Given the description of an element on the screen output the (x, y) to click on. 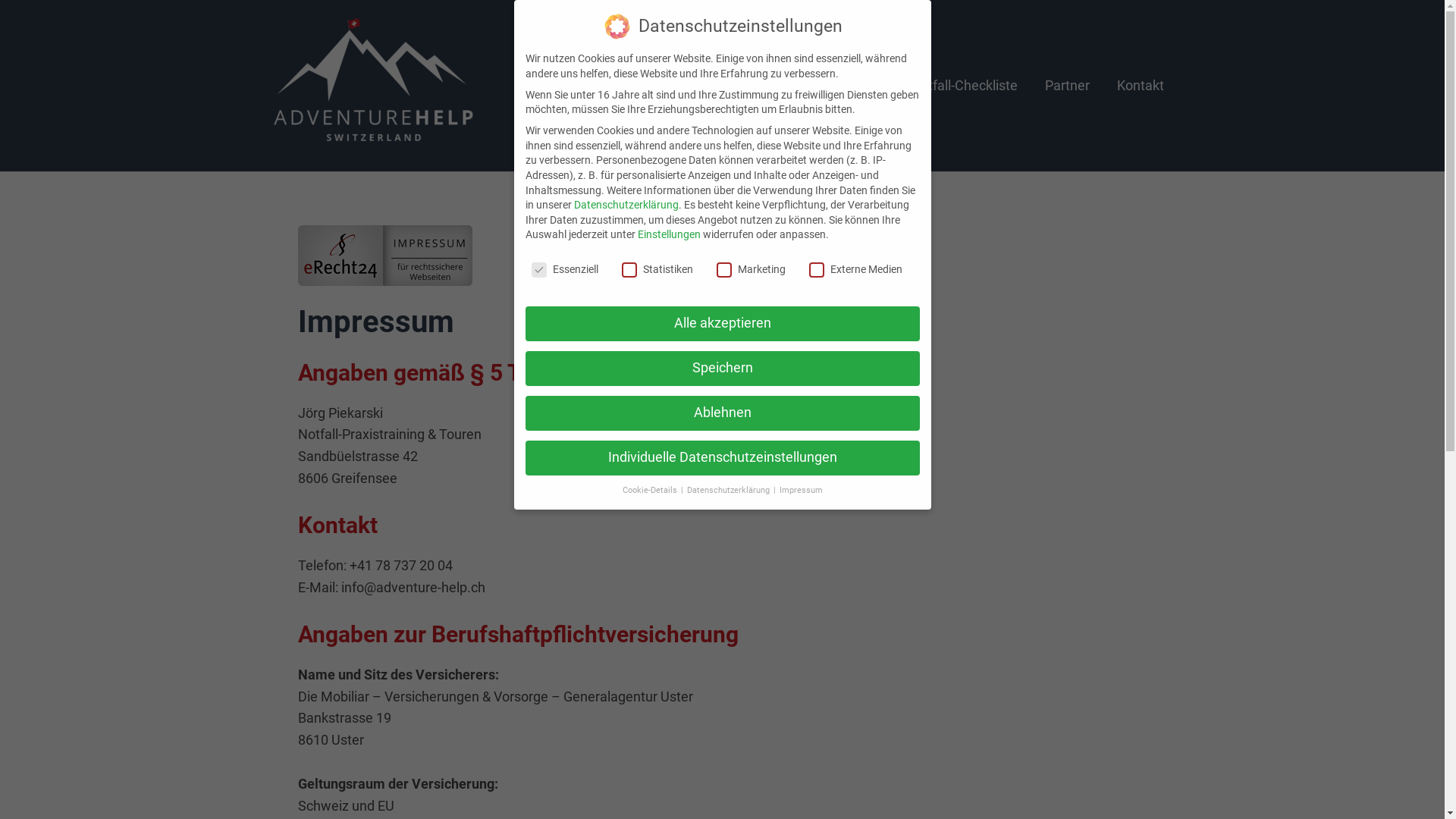
Termine Element type: text (857, 85)
Kontakt Element type: text (1139, 85)
Cookie-Details Element type: text (649, 490)
Notfall-Checkliste Element type: text (963, 85)
Impressum Element type: text (800, 490)
Einstellungen Element type: text (668, 234)
Start Element type: text (790, 85)
Partner Element type: text (1067, 85)
Alle akzeptieren Element type: text (721, 323)
Individuelle Datenschutzeinstellungen Element type: text (721, 457)
Ablehnen Element type: text (721, 412)
Speichern Element type: text (721, 368)
